Given the description of an element on the screen output the (x, y) to click on. 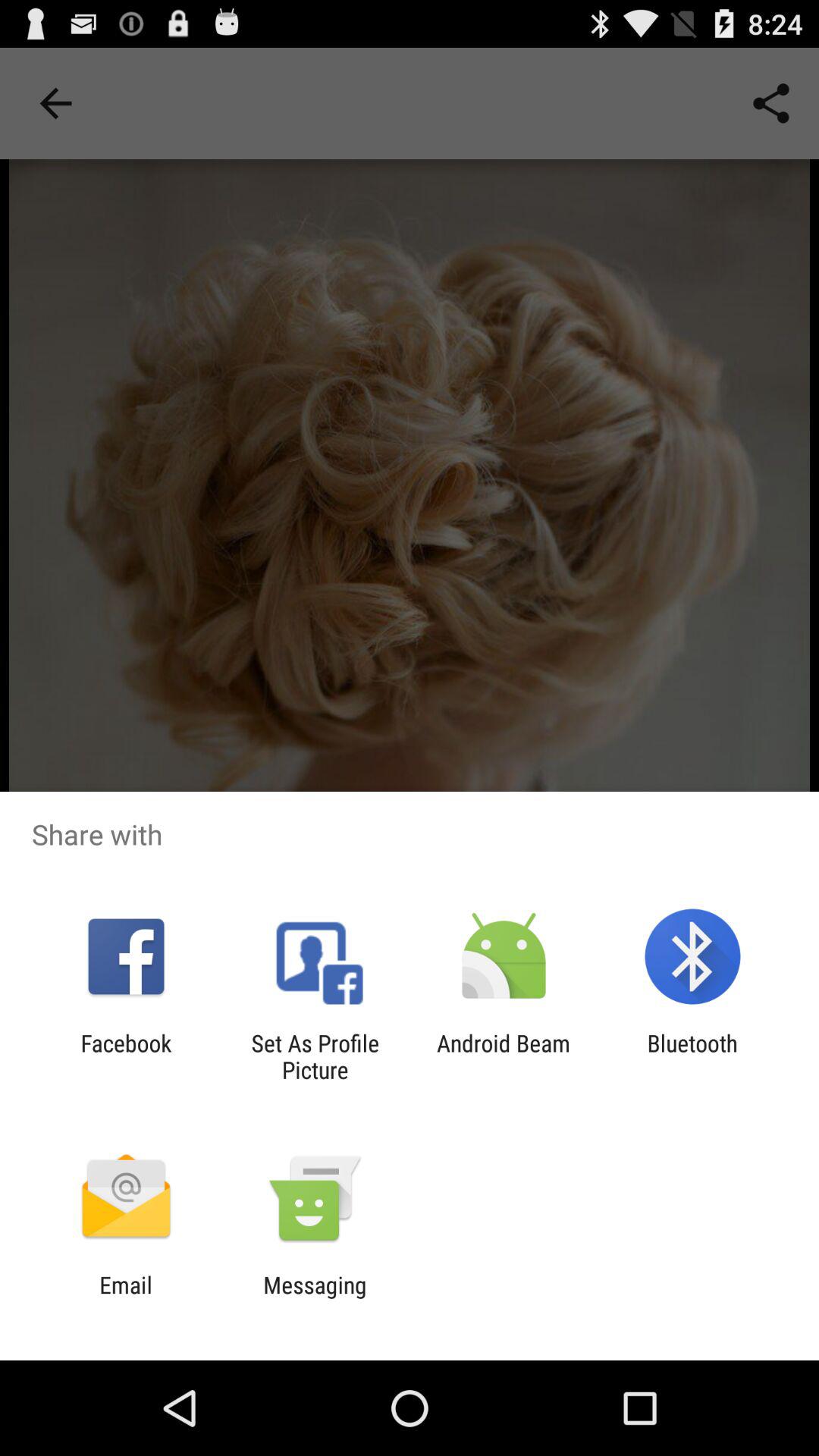
turn on email (125, 1298)
